Given the description of an element on the screen output the (x, y) to click on. 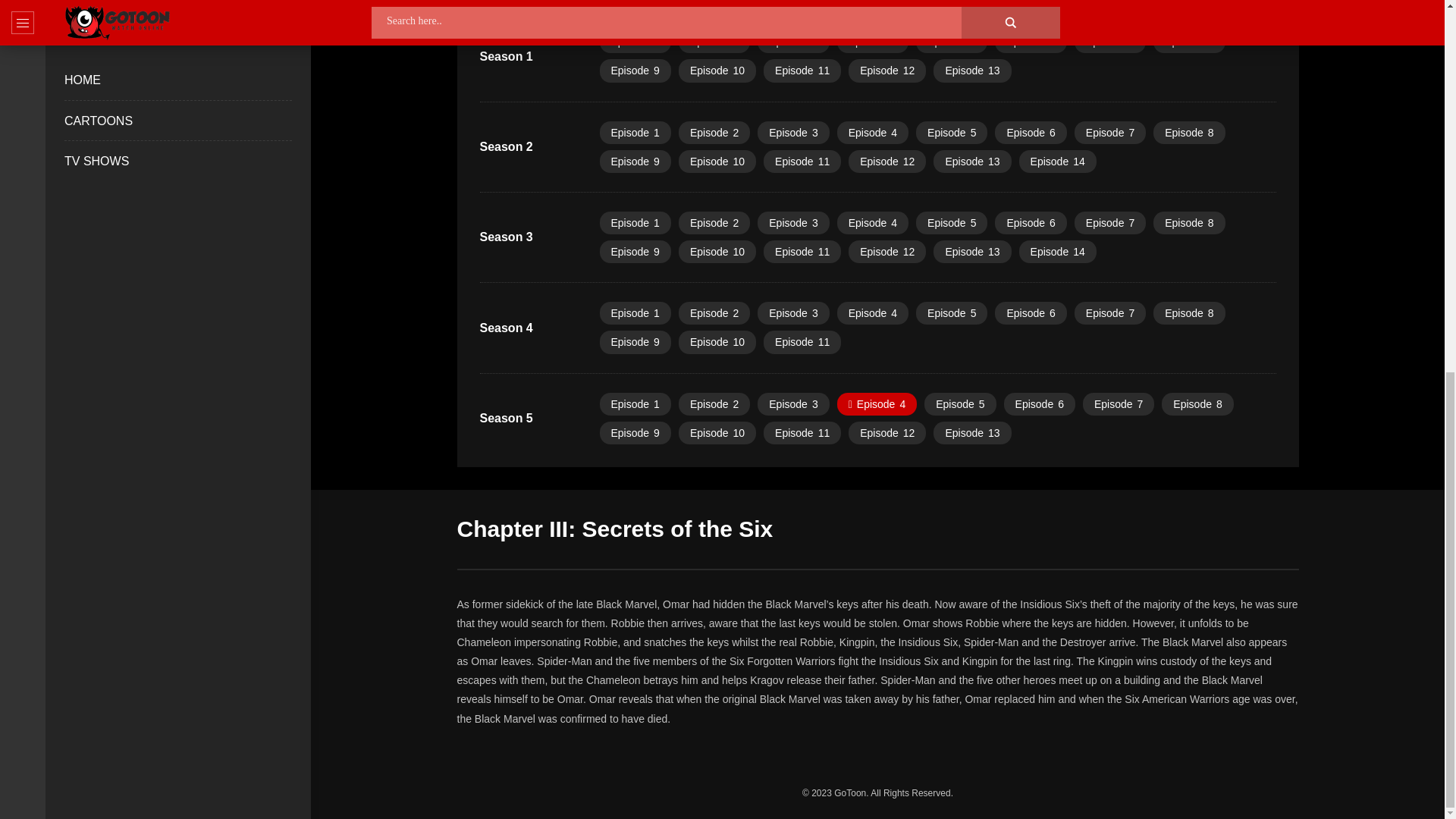
The Sting of the Scorpion (1029, 41)
Episode4 (872, 132)
Episode3 (792, 41)
The Spider Slayer (713, 41)
Episode1 (633, 41)
Episode3 (792, 132)
Episode10 (716, 69)
Episode5 (951, 132)
Episode7 (1109, 41)
Doctor Octopus: Armed and Dangerous (872, 41)
Episode11 (801, 69)
Episode12 (887, 160)
Episode2 (713, 132)
Episode6 (1029, 41)
Day of the Chameleon (971, 69)
